Given the description of an element on the screen output the (x, y) to click on. 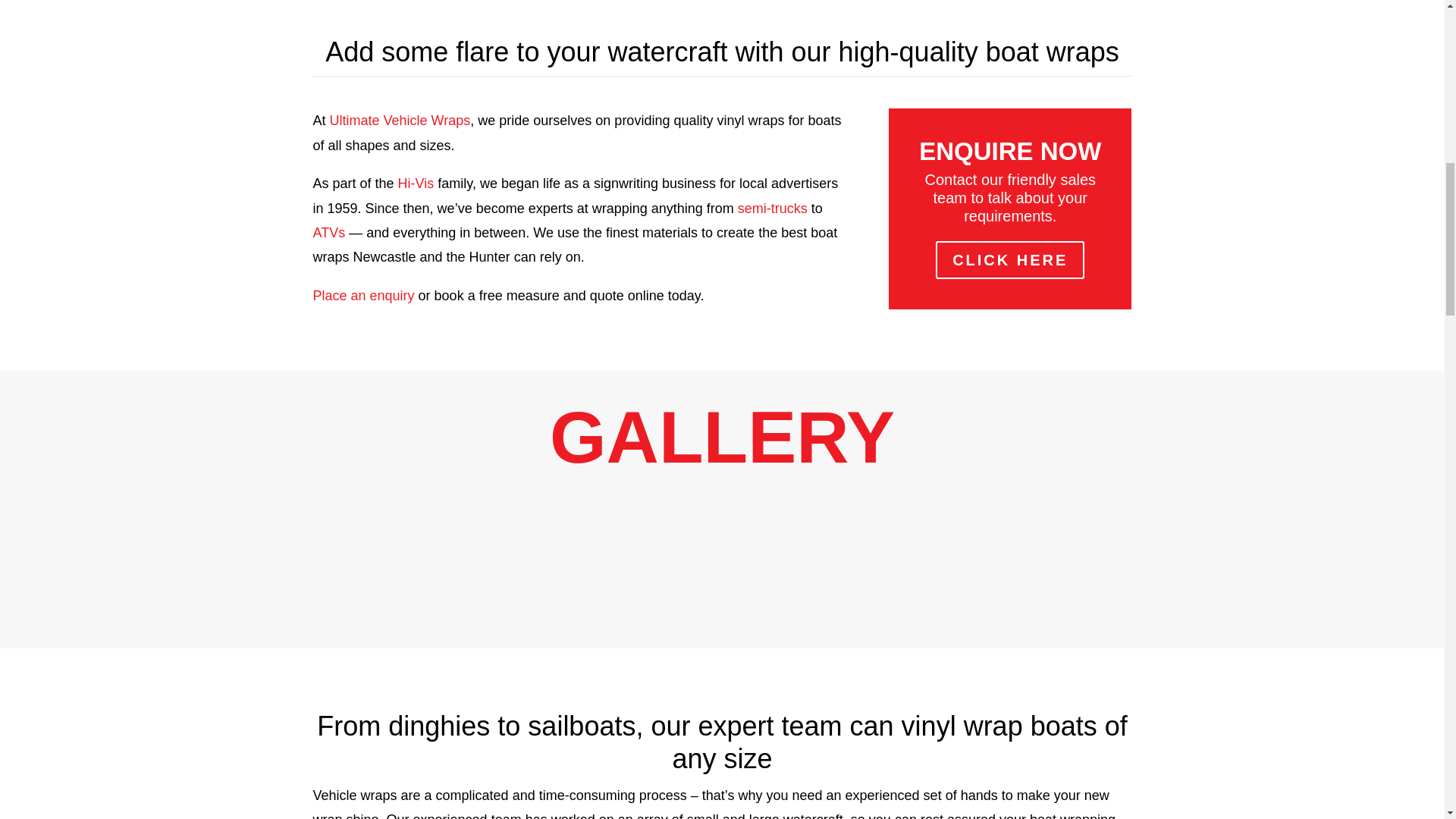
Ultimate Vehicle Wraps (400, 120)
ATVs (329, 232)
semi-trucks (773, 208)
Hi-Vis (415, 183)
